Given the description of an element on the screen output the (x, y) to click on. 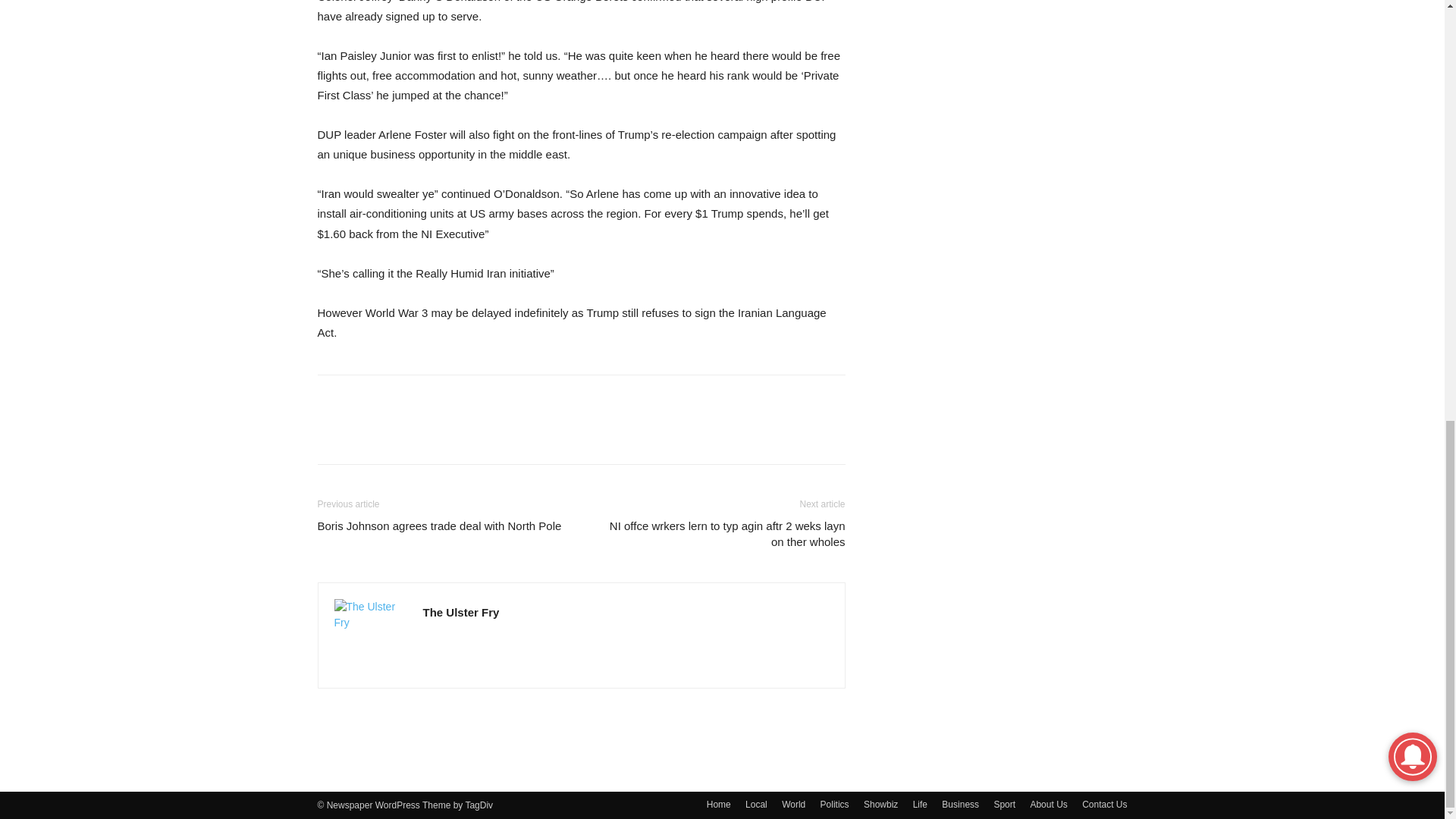
Local (756, 804)
Home (718, 804)
Contact Us (1103, 804)
The Ulster Fry (461, 612)
Business (960, 804)
Boris Johnson agrees trade deal with North Pole (438, 525)
Showbiz (880, 804)
About Us (1048, 804)
bottomFacebookLike (430, 399)
Life (919, 804)
